Given the description of an element on the screen output the (x, y) to click on. 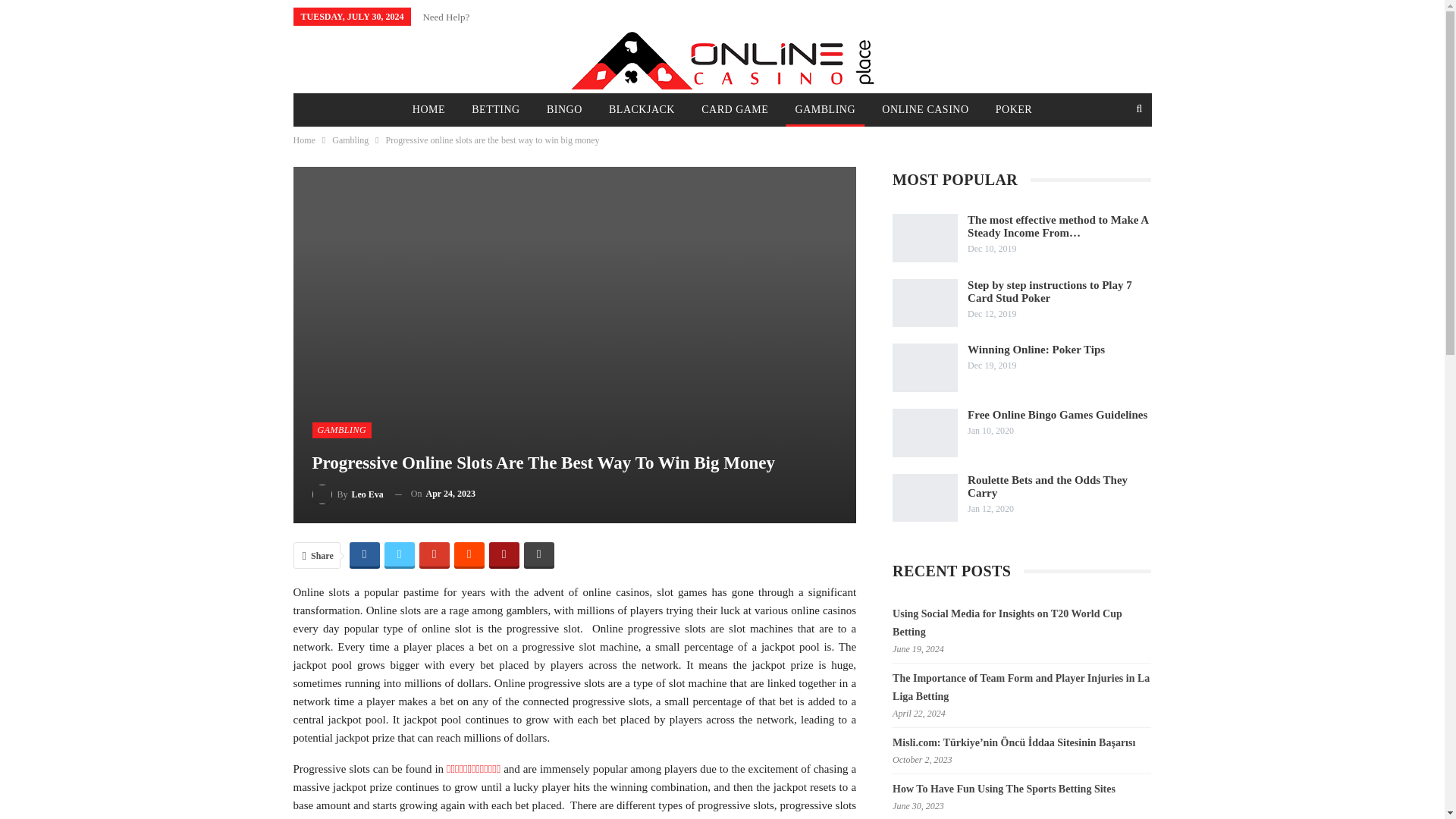
Home (303, 139)
HOME (428, 110)
POKER (1014, 110)
Browse Author Articles (348, 494)
BINGO (564, 110)
Gambling (349, 139)
BLACKJACK (641, 110)
GAMBLING (342, 429)
Need Help? (445, 16)
CARD GAME (735, 110)
GAMBLING (825, 110)
ONLINE CASINO (924, 110)
By Leo Eva (348, 494)
BETTING (495, 110)
